Given the description of an element on the screen output the (x, y) to click on. 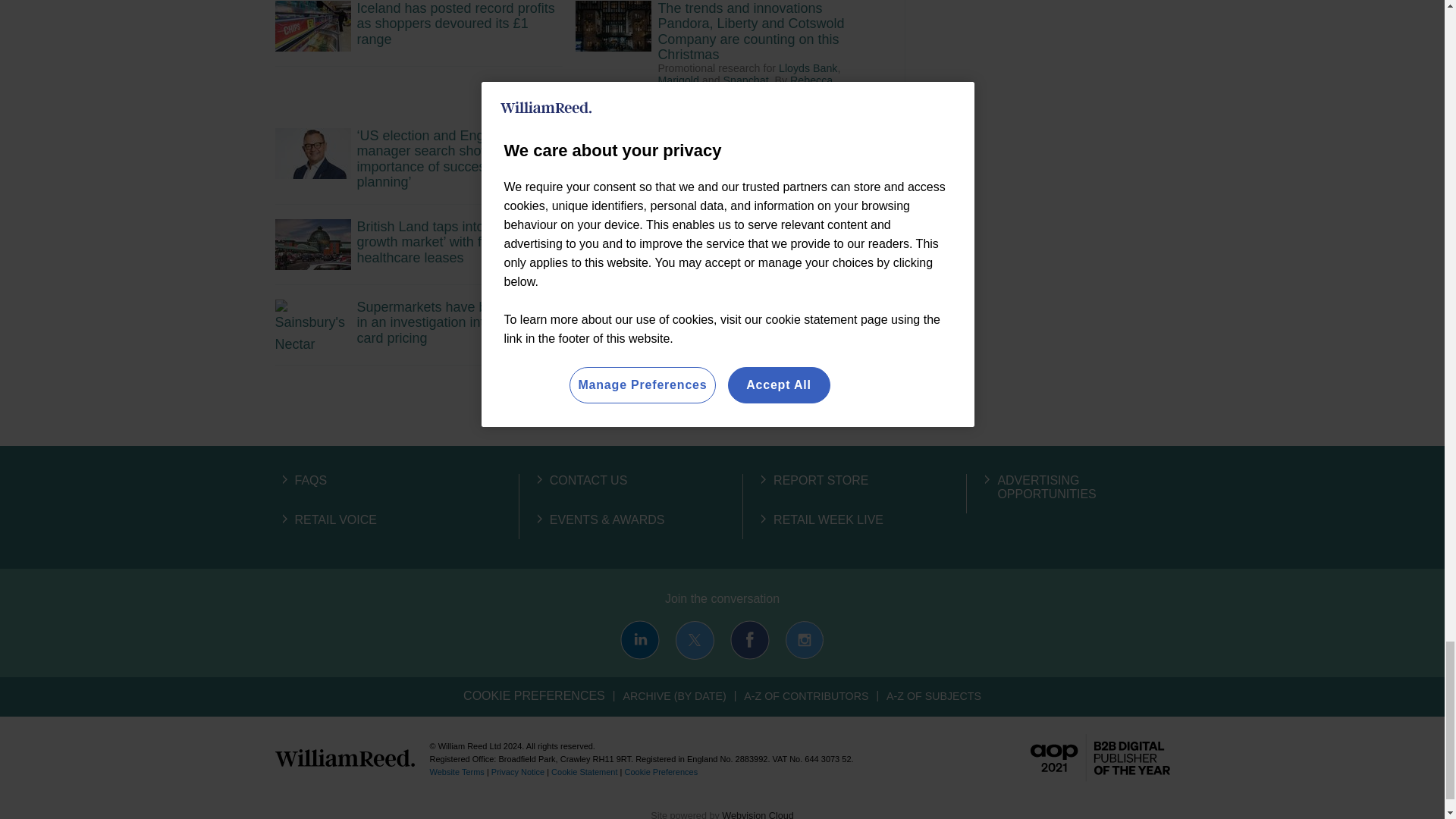
Connect with us on Facebook (750, 639)
Connect with us on Instagram (804, 639)
Connect with us on X (694, 639)
Connect with us on LinkedIn (639, 639)
